Given the description of an element on the screen output the (x, y) to click on. 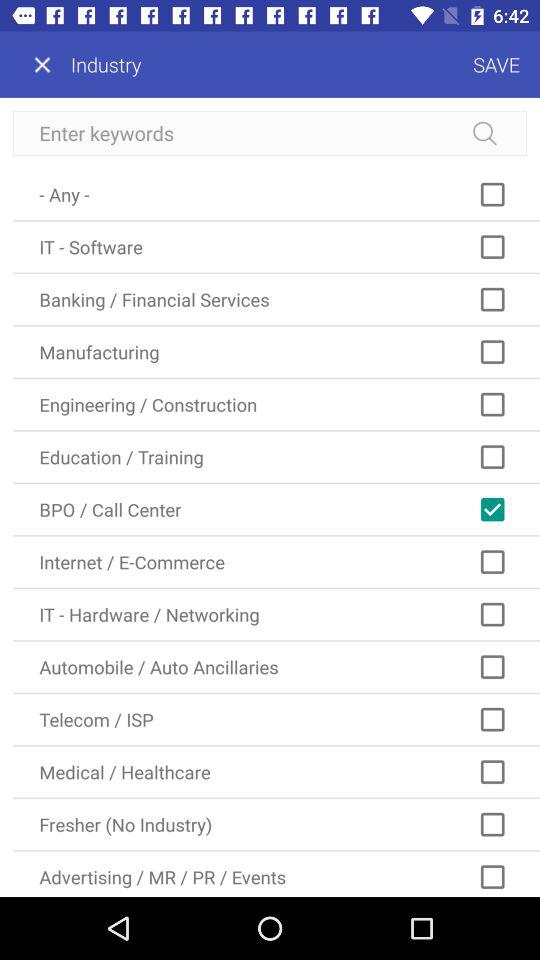
turn off the item below the save (269, 133)
